Given the description of an element on the screen output the (x, y) to click on. 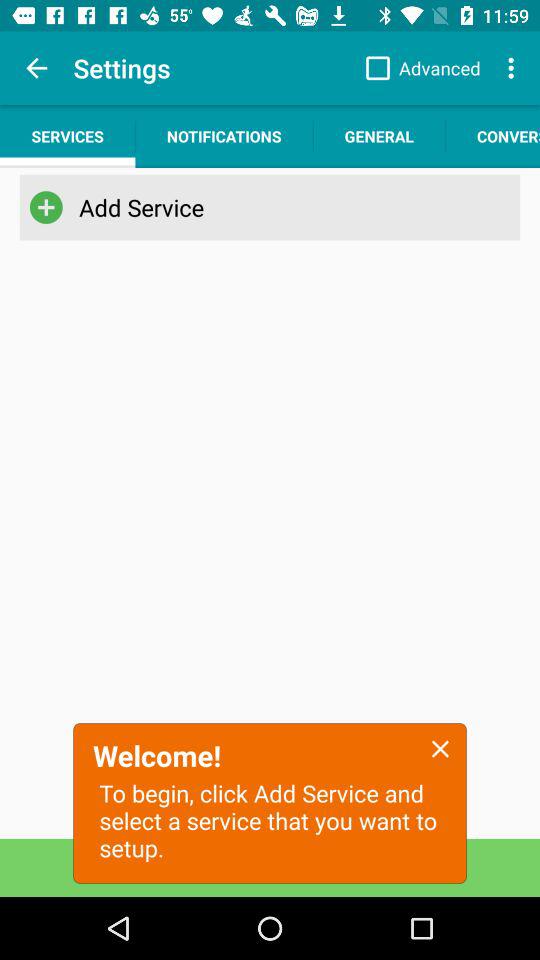
click on the close button (440, 748)
click on the button next to general (493, 136)
